Given the description of an element on the screen output the (x, y) to click on. 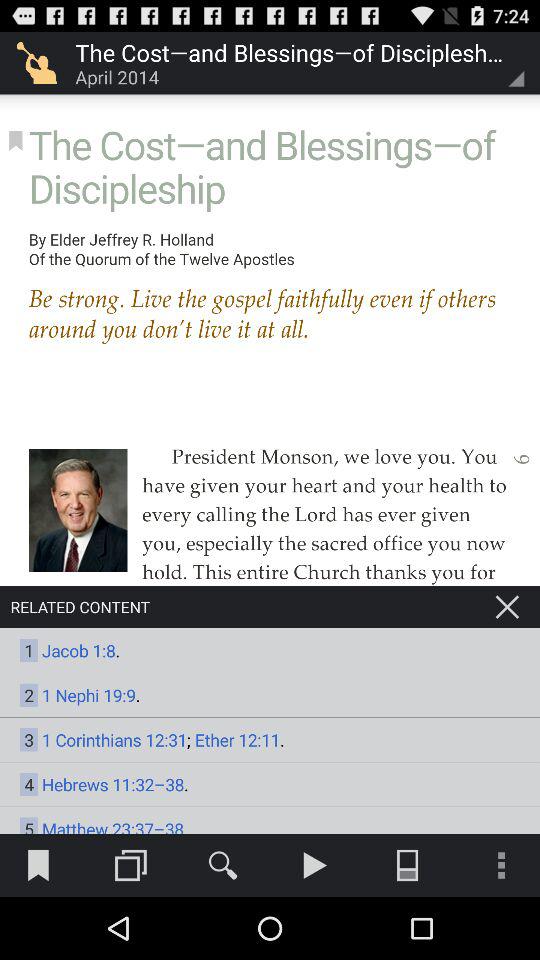
to close related content option (507, 607)
